Given the description of an element on the screen output the (x, y) to click on. 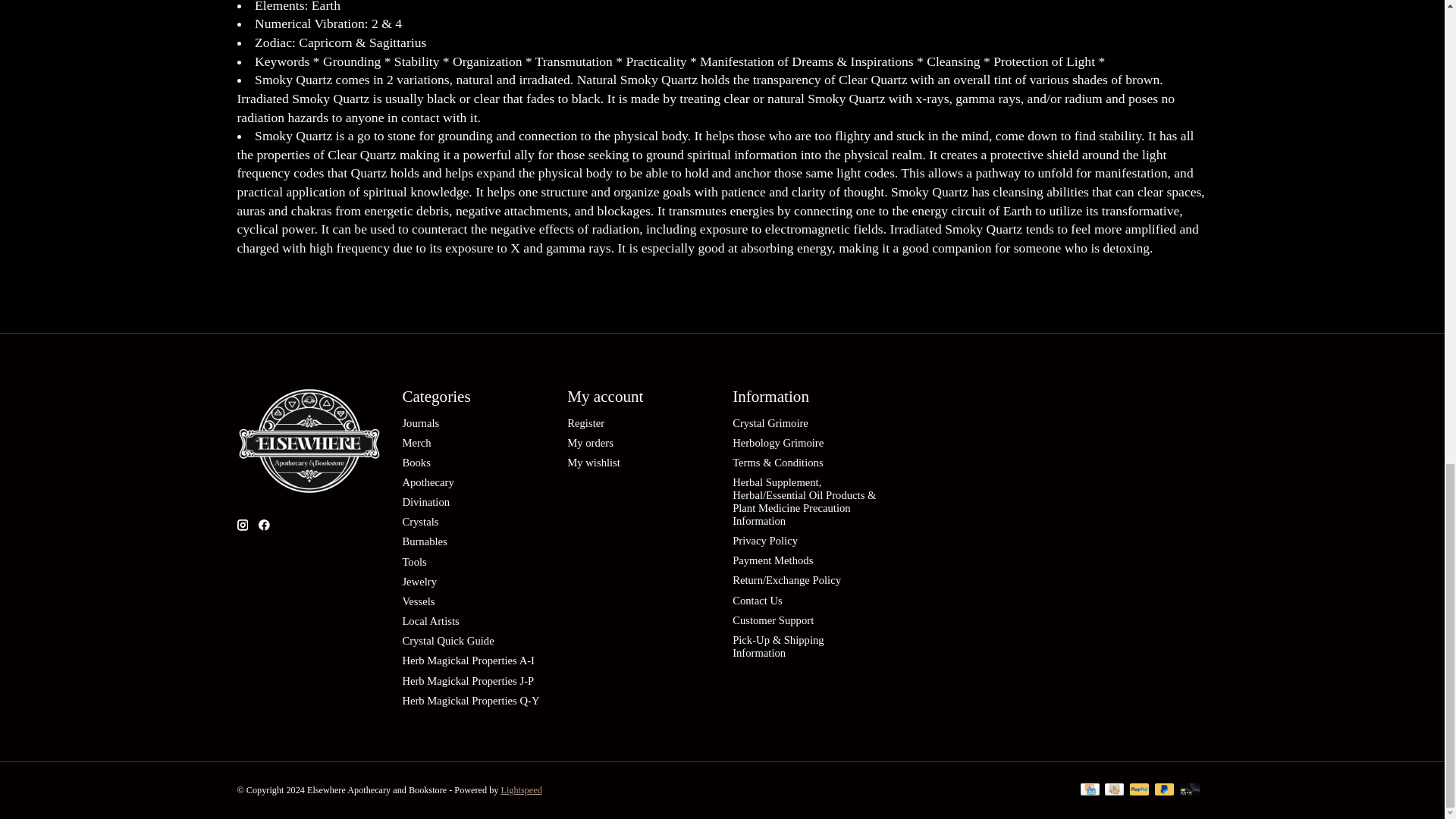
My wishlist (593, 462)
Payment Methods (772, 560)
Crystal Grimoire (770, 422)
Privacy Policy (764, 540)
Herbology Grimoire (778, 442)
Register (585, 422)
My orders (589, 442)
